Given the description of an element on the screen output the (x, y) to click on. 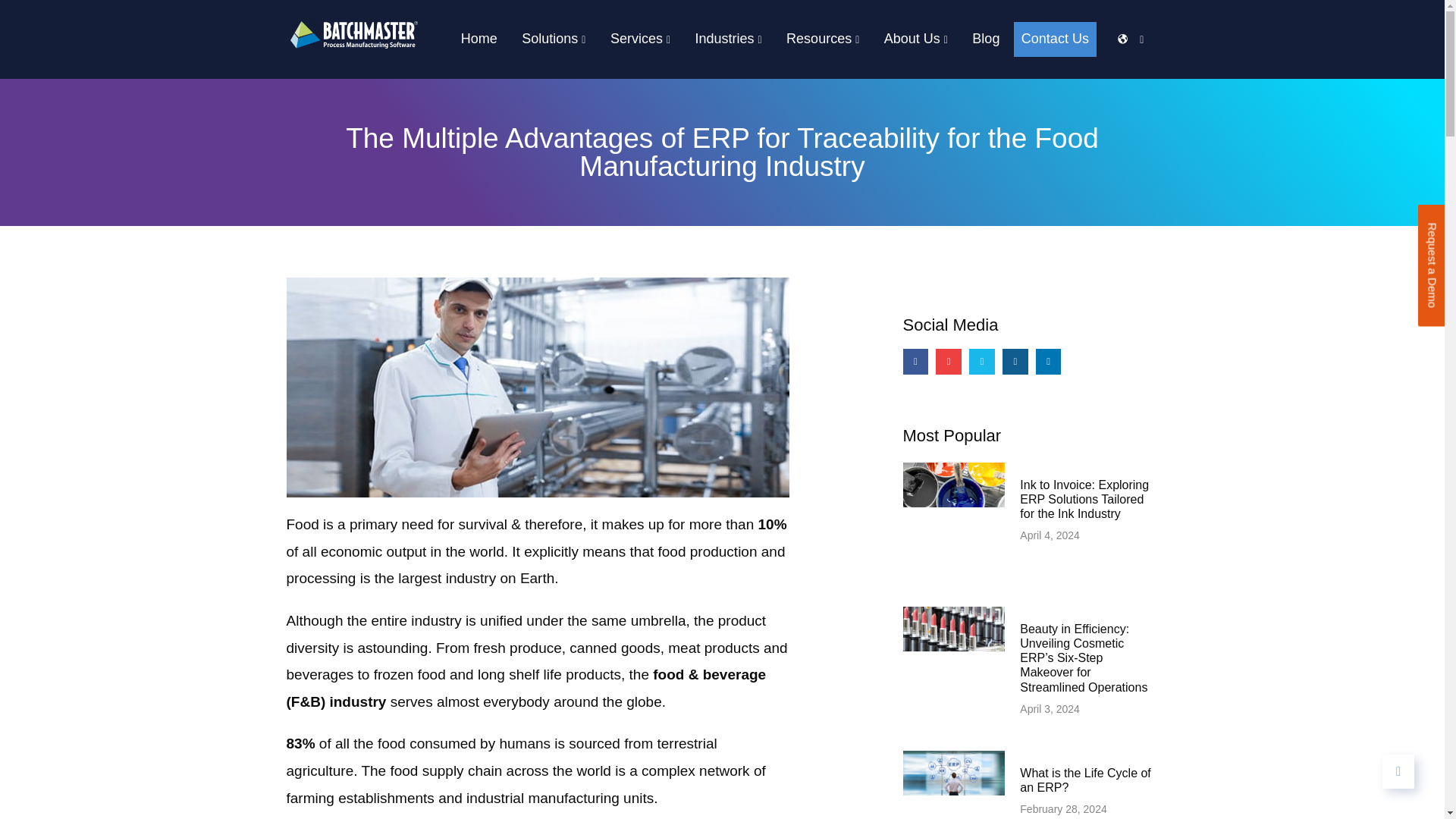
Solutions (553, 39)
Home (478, 39)
